Given the description of an element on the screen output the (x, y) to click on. 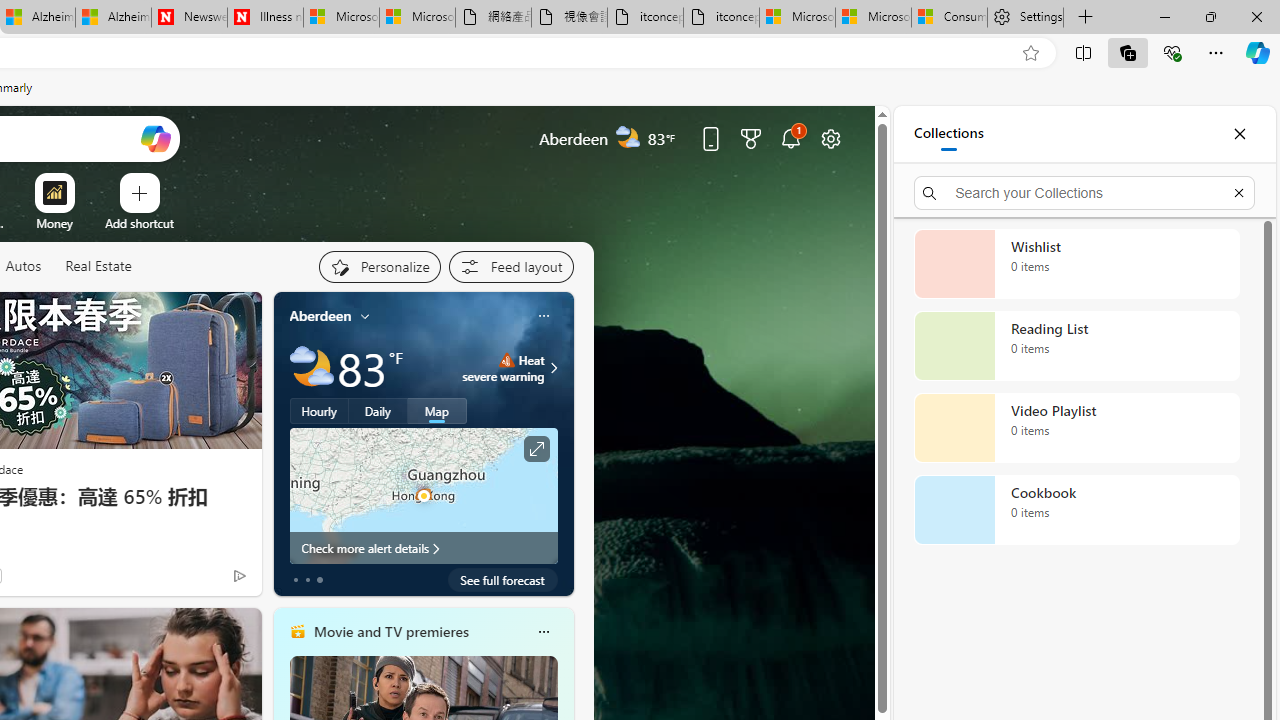
You're following The Weather Channel (197, 579)
Real Estate (98, 265)
Partly cloudy (311, 368)
Hourly (319, 411)
Class: icon-img (543, 632)
Real Estate (97, 267)
itconcepthk.com/projector_solutions.mp4 (721, 17)
Aberdeen (320, 315)
Personalize your feed" (379, 266)
Daily (378, 411)
Video Playlist collection, 0 items (1076, 427)
Movie and TV premieres (390, 631)
